Given the description of an element on the screen output the (x, y) to click on. 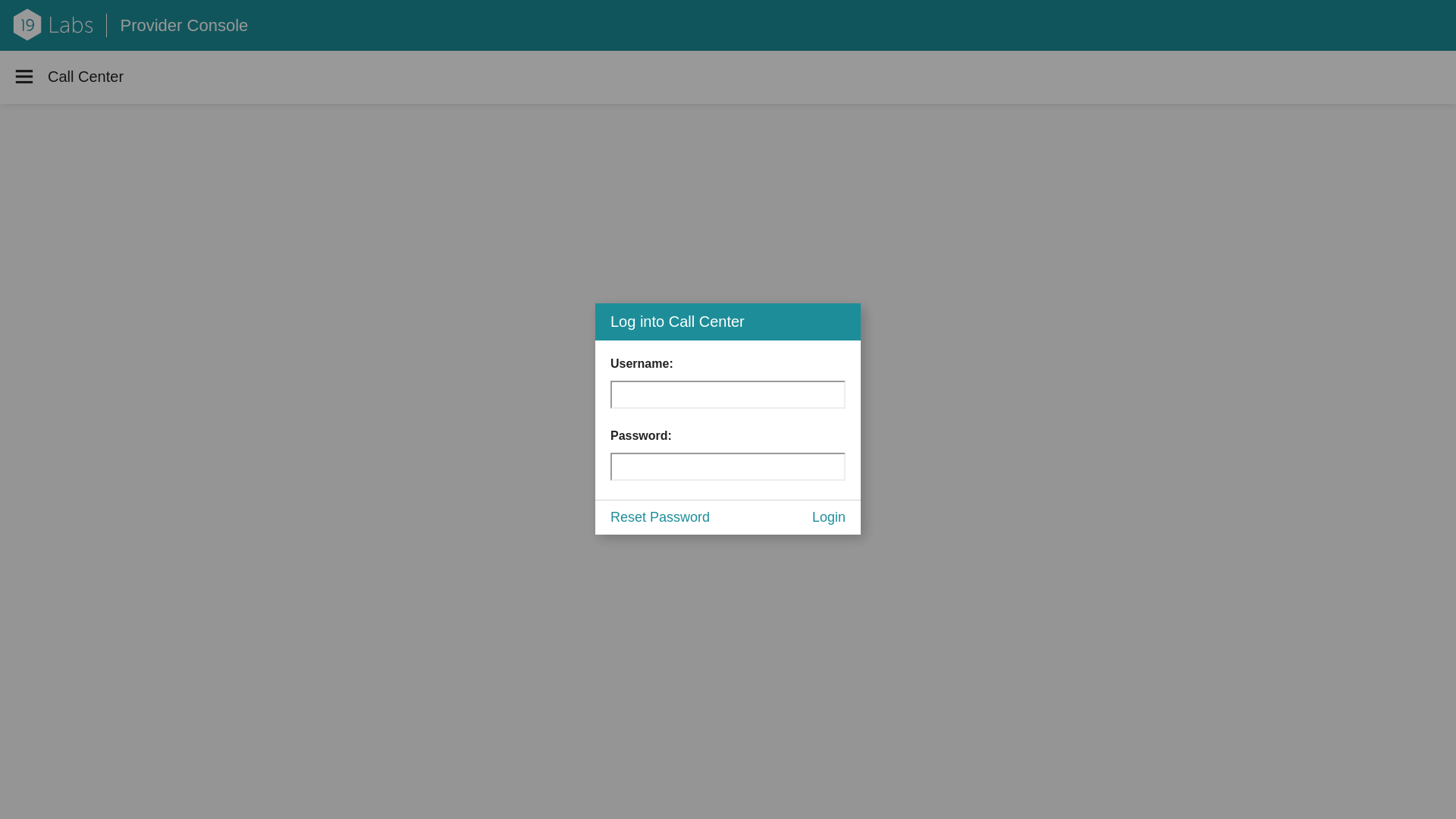
Login Element type: text (828, 517)
Reset Password Element type: text (659, 517)
19Labs_logo Element type: text (53, 18)
